Given the description of an element on the screen output the (x, y) to click on. 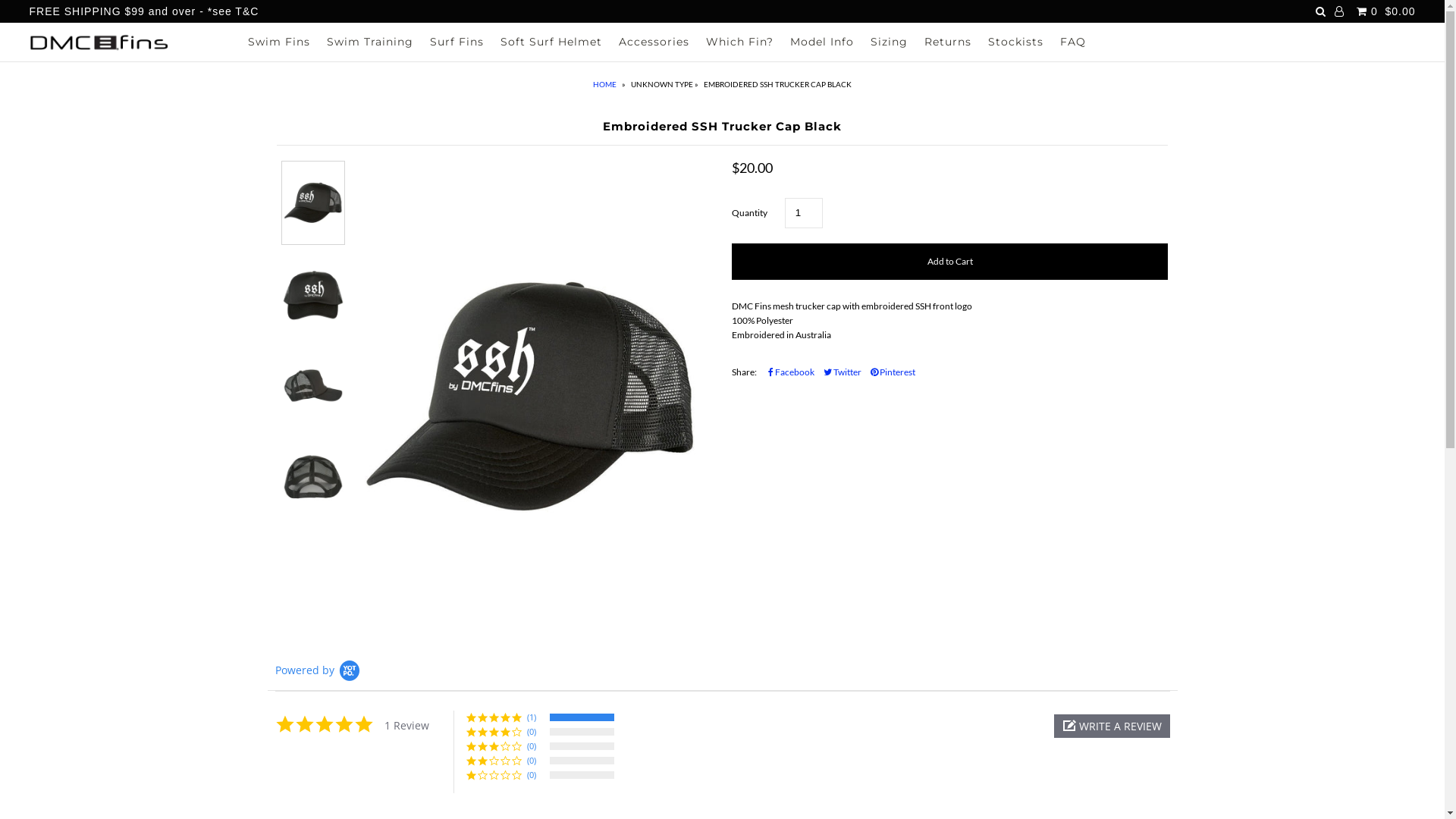
Facebook Element type: text (791, 371)
Swim Fins Element type: text (278, 41)
HOME Element type: text (606, 83)
Soft Surf Helmet Element type: text (550, 41)
Pinterest Element type: text (892, 371)
Add to Cart Element type: text (949, 261)
Returns Element type: text (947, 41)
FREE SHIPPING $99 and over - *see T&C Element type: text (143, 11)
Stockists Element type: text (1015, 41)
Twitter Element type: text (842, 371)
Surf Fins Element type: text (456, 41)
Model Info Element type: text (821, 41)
FAQ Element type: text (1072, 41)
Sizing Element type: text (888, 41)
  0  $0.00 Element type: text (1383, 11)
Swim Training Element type: text (369, 41)
Accessories Element type: text (653, 41)
Which Fin? Element type: text (739, 41)
